Given the description of an element on the screen output the (x, y) to click on. 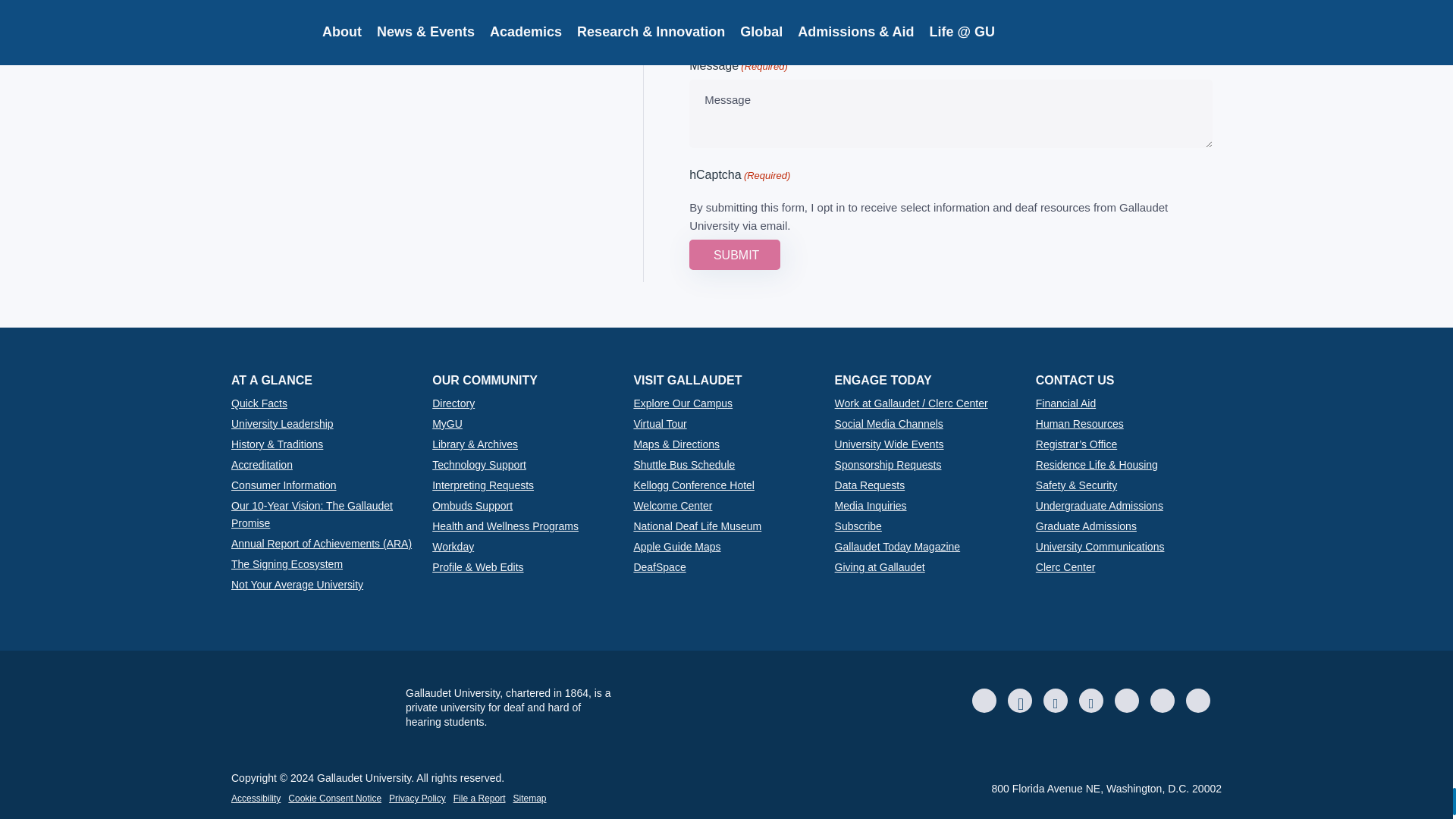
Submit (734, 254)
